Given the description of an element on the screen output the (x, y) to click on. 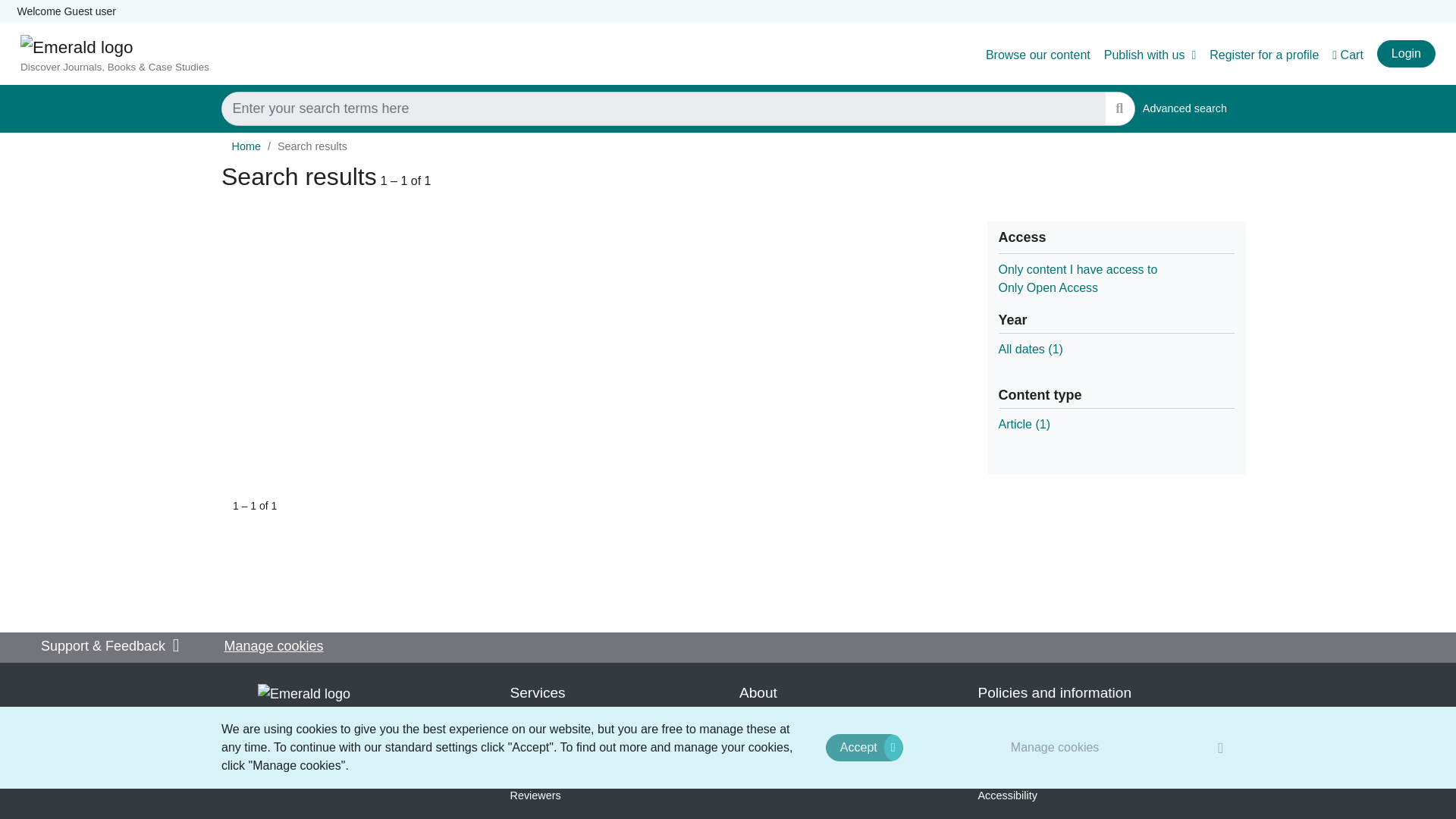
Browse our content (1037, 54)
Register for a profile (1264, 54)
Search results (312, 146)
Only Open Access (1047, 287)
Publish with us (1184, 109)
Manage cookies (1149, 54)
Only content I have access to (1053, 747)
Filter by: Article. (1077, 269)
Accept (1023, 423)
Cart (863, 747)
Filter by: All dates. (1347, 54)
Home (1029, 349)
SUBMIT (245, 146)
